Given the description of an element on the screen output the (x, y) to click on. 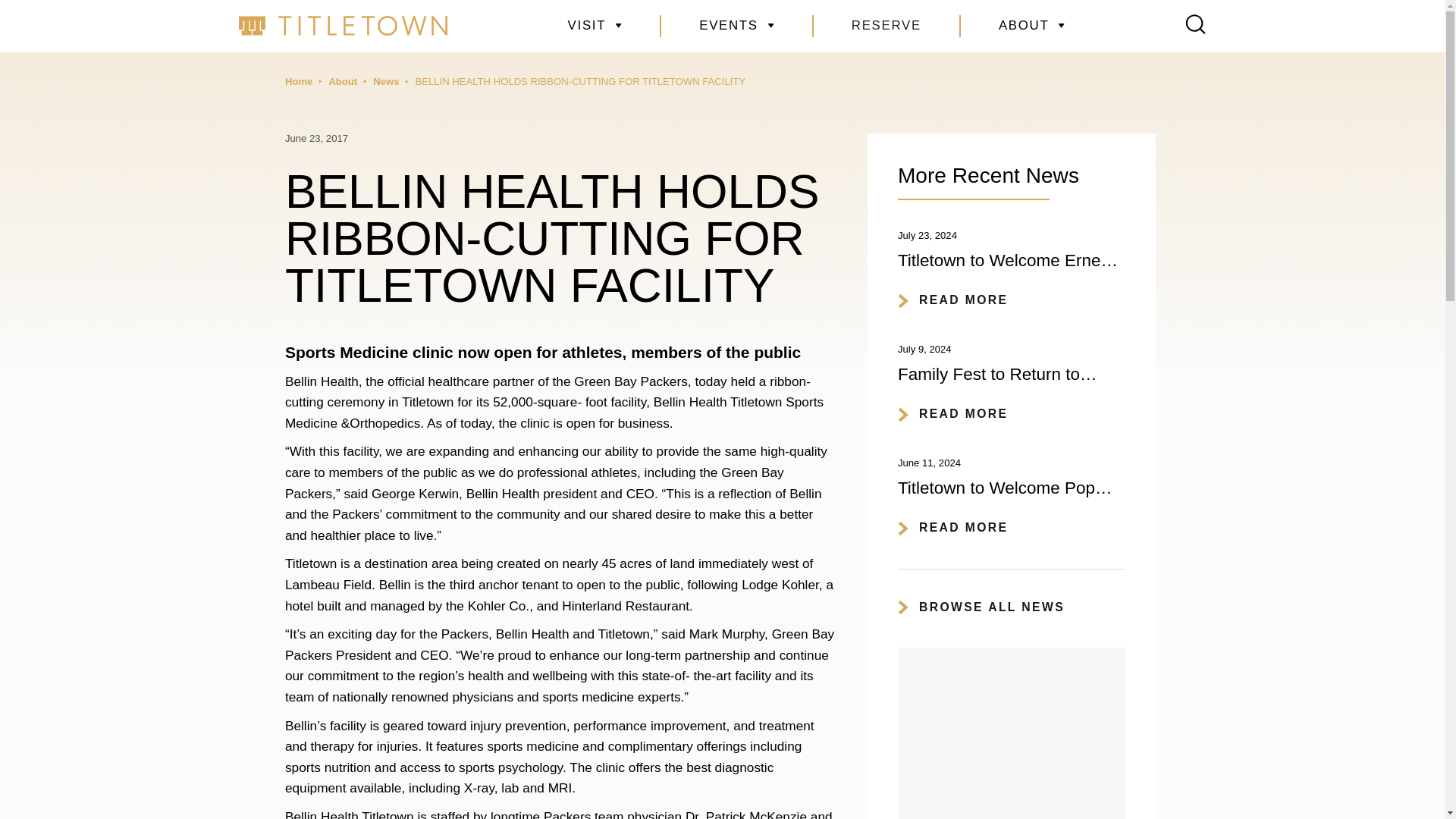
VISIT (595, 25)
Home (299, 81)
News (385, 81)
READ MORE (953, 302)
About (342, 81)
BELLIN HEALTH HOLDS RIBBON-CUTTING FOR TITLETOWN FACILITY (579, 81)
3rd party ad content (1011, 733)
ABOUT (1032, 25)
EVENTS (736, 25)
RESERVE (886, 26)
